Given the description of an element on the screen output the (x, y) to click on. 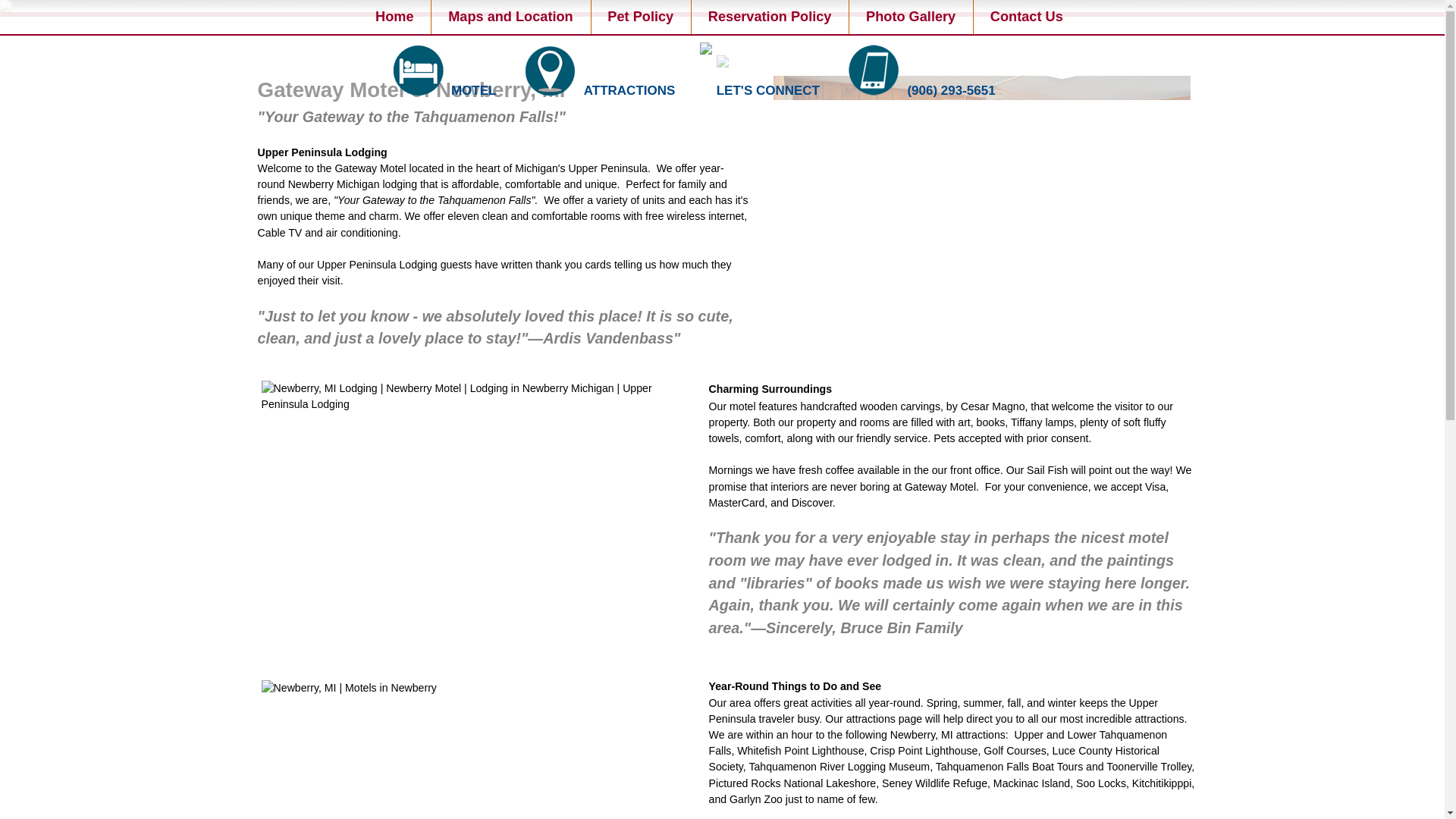
LET'S CONNECT (705, 50)
Newberry Michigan motel facebook (705, 50)
Newberry Michigan lodging (352, 184)
Reservation Policy (770, 16)
Newberry Michigan Attractions (550, 95)
Maps and Location (510, 16)
Photo Gallery (910, 16)
Upper Peninsula Lodging (322, 152)
Contact Us (1026, 16)
